Given the description of an element on the screen output the (x, y) to click on. 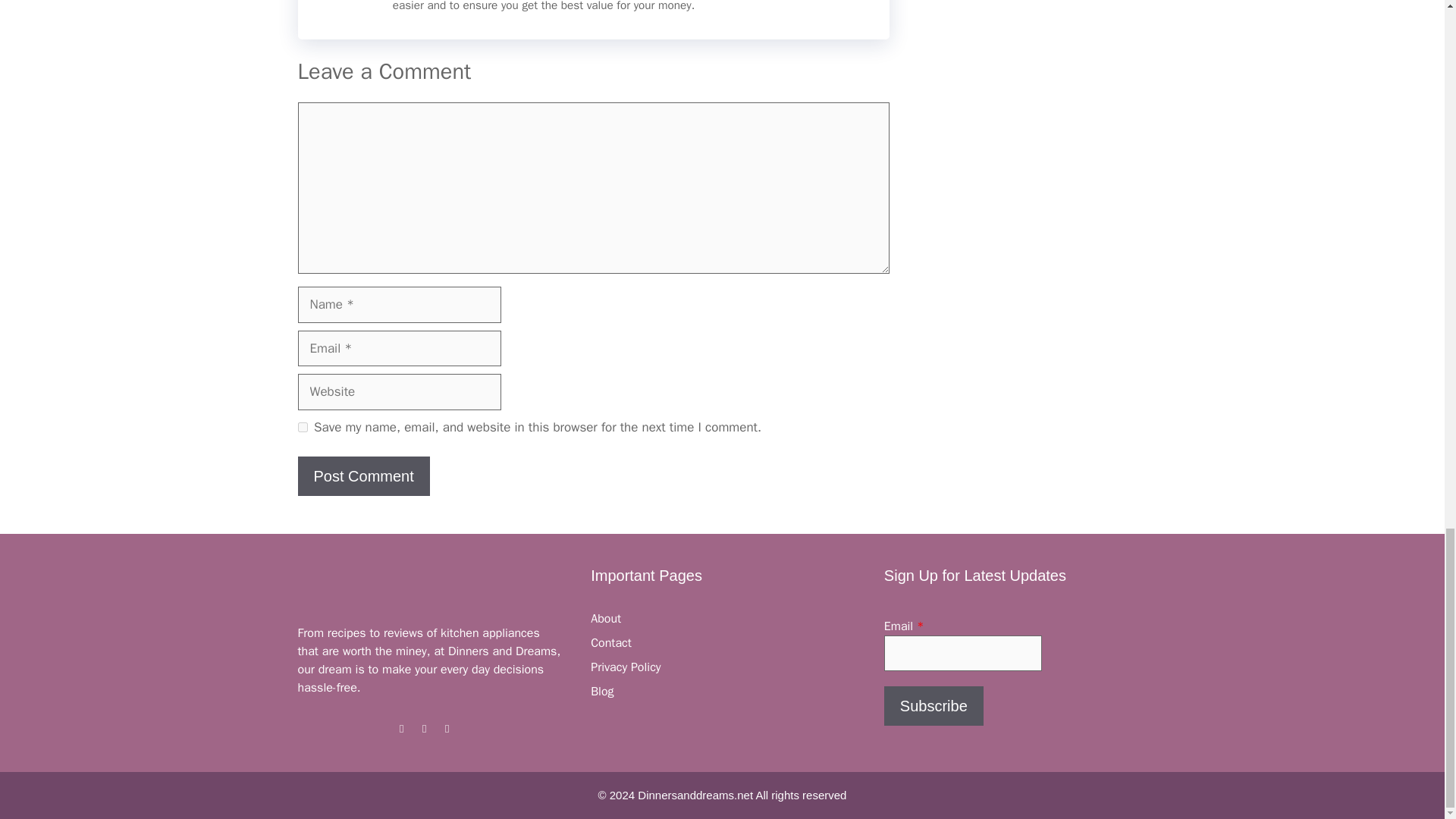
Contact (611, 642)
Tumblr (447, 728)
About (606, 618)
Privacy Policy (626, 667)
Post Comment (363, 476)
yes (302, 427)
Post Comment (363, 476)
Facebook (401, 728)
Twitter (423, 728)
